Given the description of an element on the screen output the (x, y) to click on. 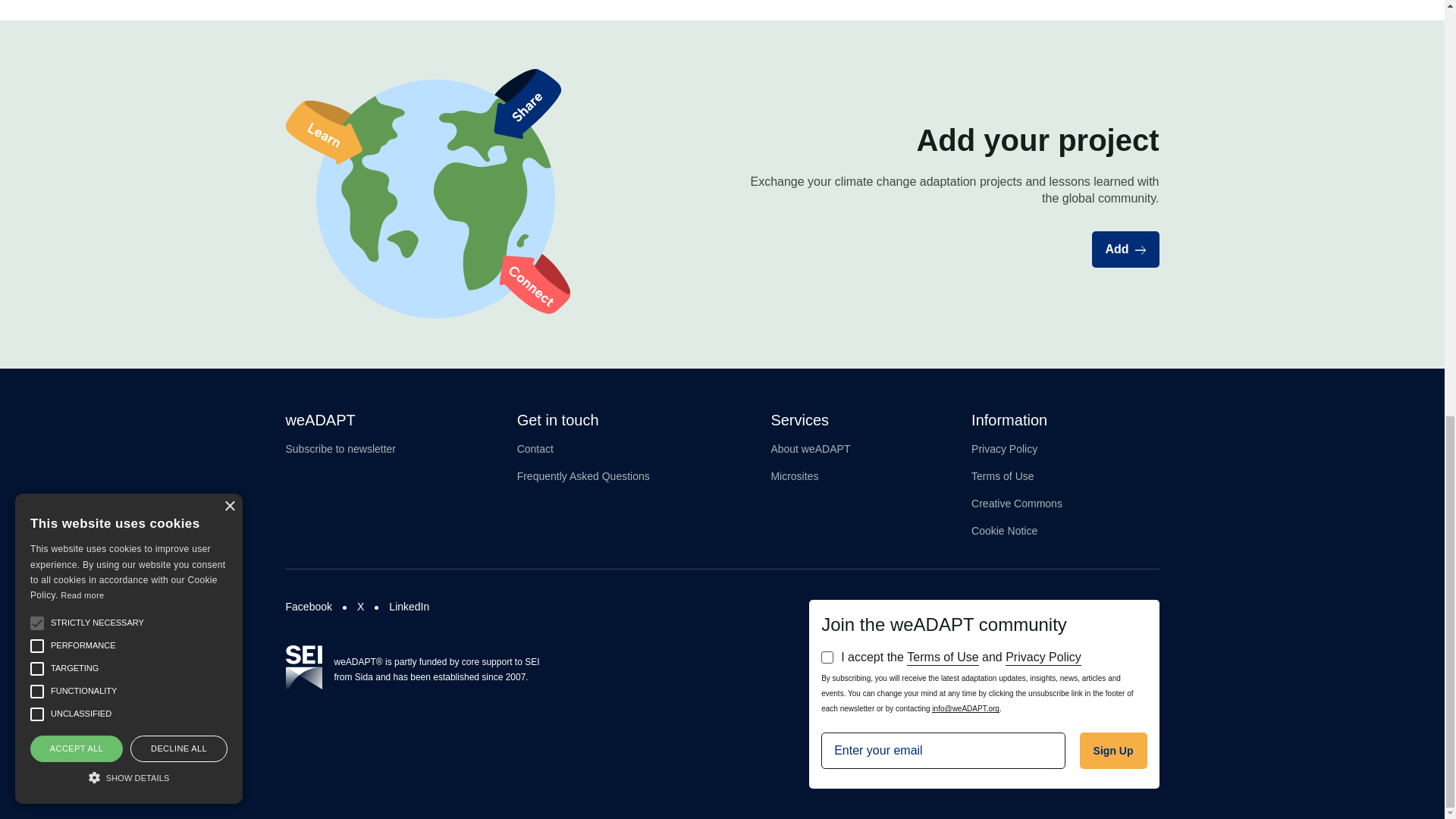
1 (826, 657)
Sign Up (1113, 750)
